Given the description of an element on the screen output the (x, y) to click on. 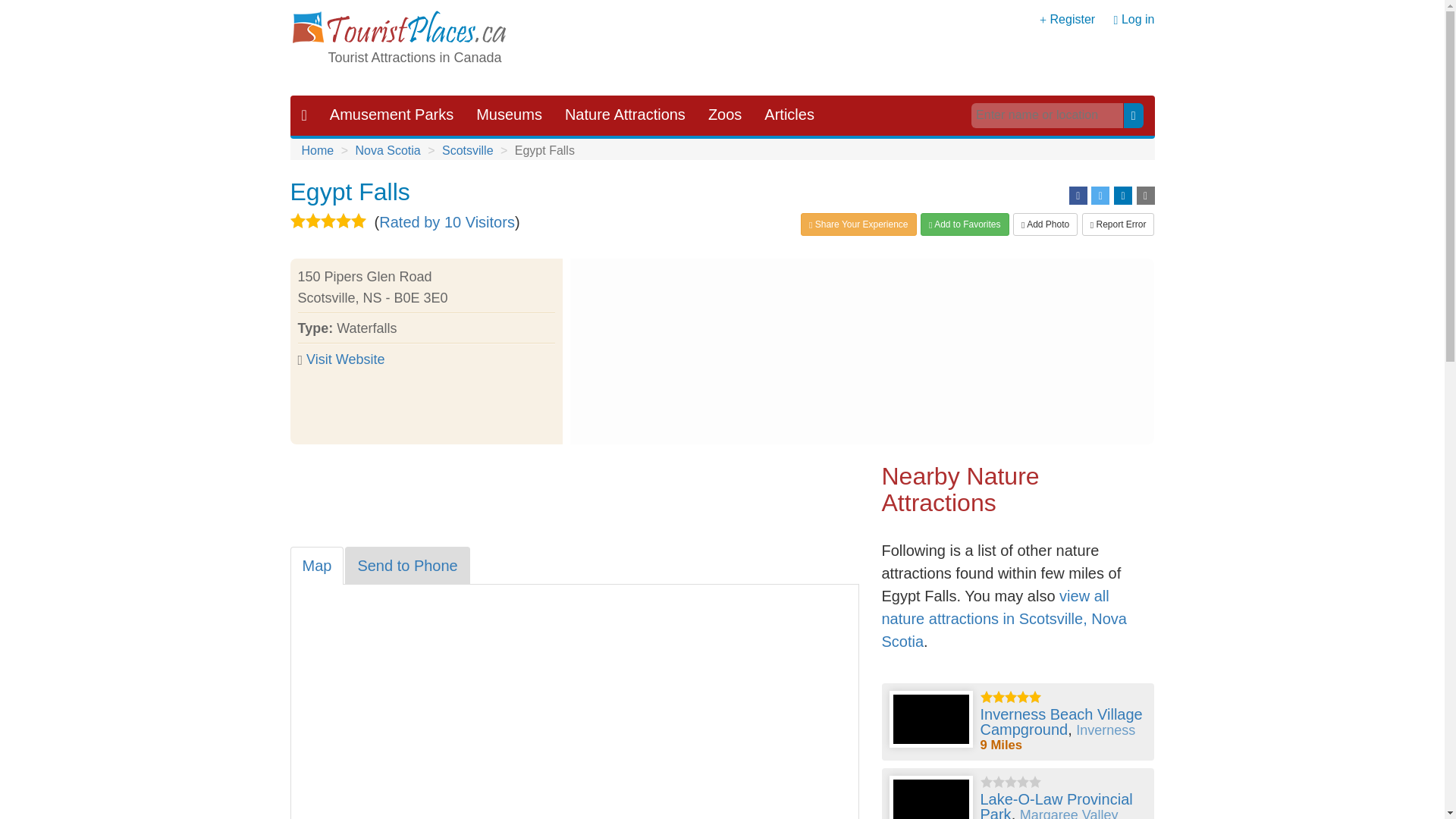
Add to Favorites (964, 223)
Send to Phone (406, 565)
Rated by 10 Visitors (446, 221)
Zoos (724, 114)
Nature Attractions (625, 114)
Amusement Parks (391, 114)
Log in (1137, 19)
Share Your Experience (857, 223)
Scotsville (467, 150)
